Given the description of an element on the screen output the (x, y) to click on. 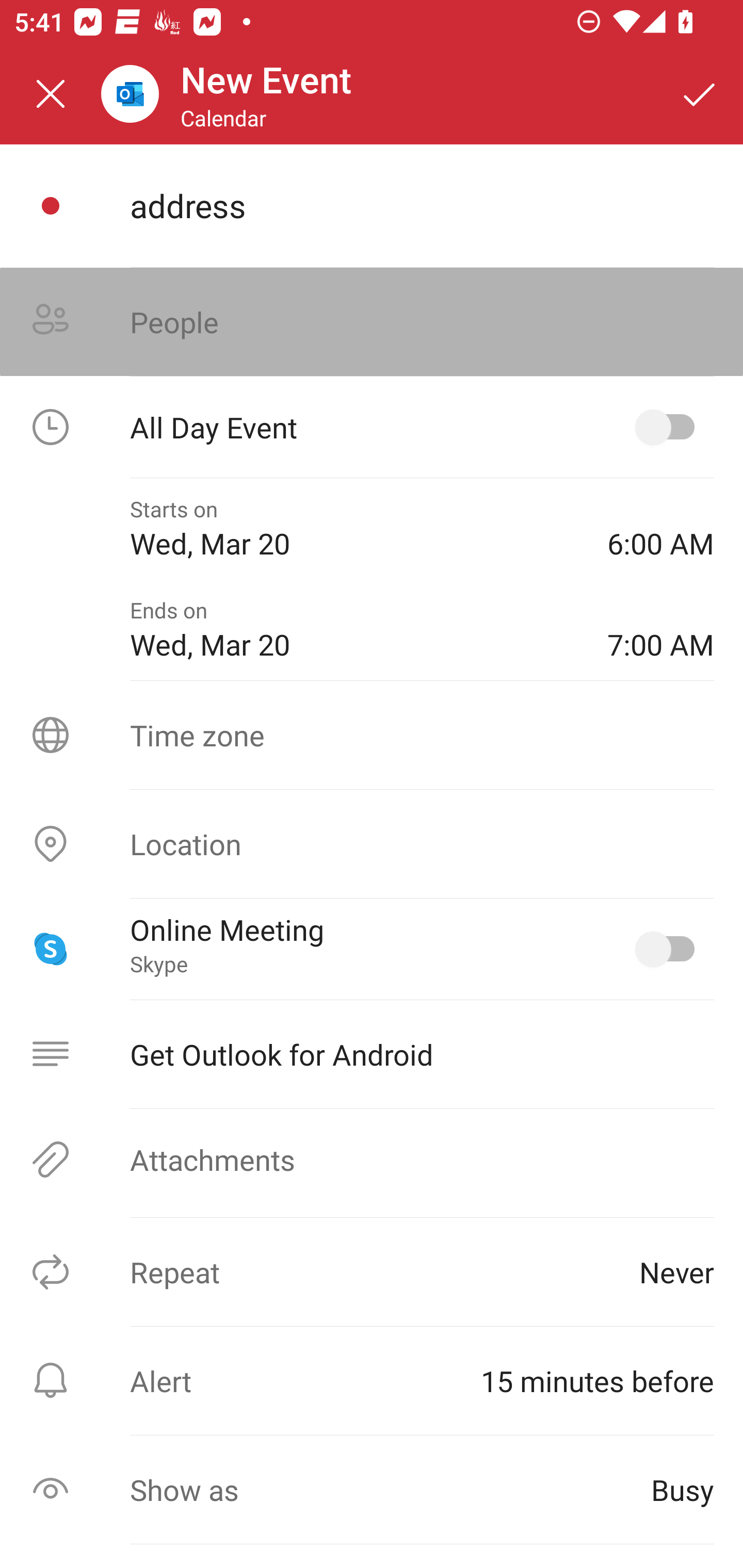
Close (50, 93)
Save (699, 93)
address (422, 205)
Event icon picker (50, 206)
People (371, 322)
All Day Event (371, 427)
Starts on Wed, Mar 20 (353, 528)
6:00 AM (660, 528)
Ends on Wed, Mar 20 (353, 629)
7:00 AM (660, 629)
Time zone (371, 734)
Location (371, 844)
Online Meeting, Skype selected (669, 949)
Attachments (371, 1159)
Repeat Never (371, 1272)
Alert ⁨15 minutes before (371, 1380)
Show as Busy (371, 1489)
